Given the description of an element on the screen output the (x, y) to click on. 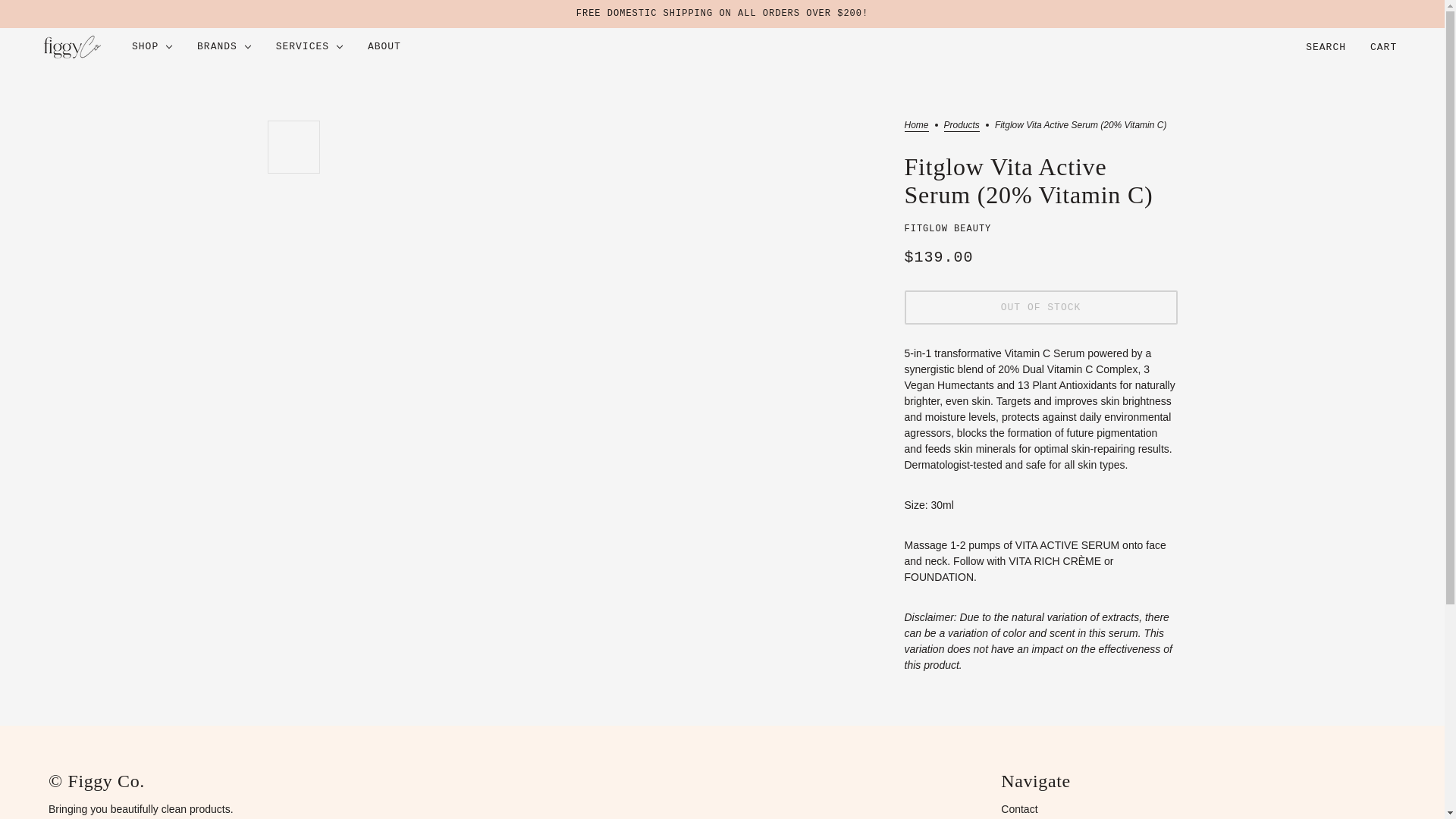
Contact (1018, 808)
SHOP  (151, 46)
Figgy Co. (71, 46)
